Given the description of an element on the screen output the (x, y) to click on. 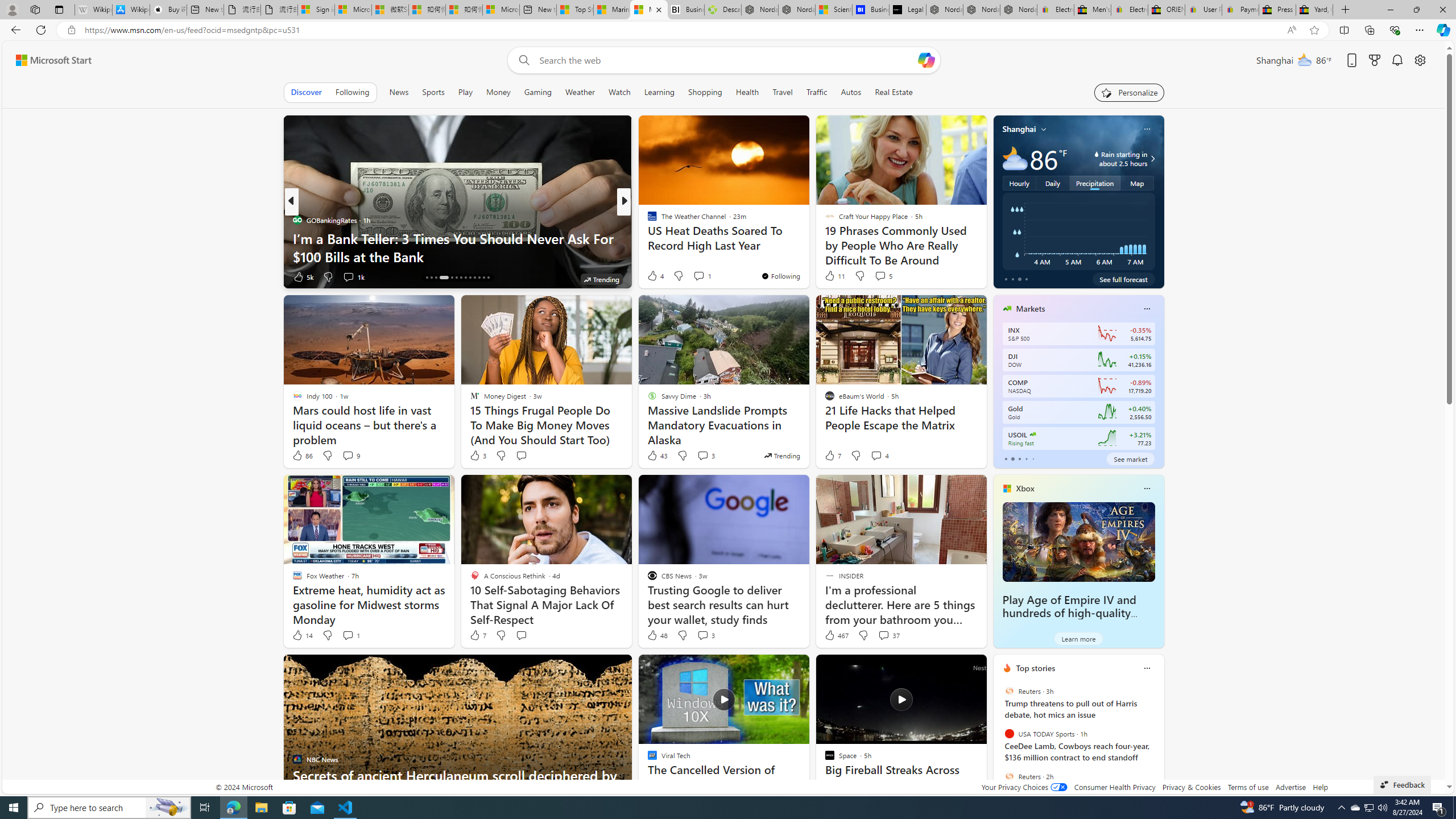
Money (498, 92)
AutomationID: tab-25 (483, 277)
spot on news (647, 238)
PC World (647, 219)
View comments 35 Comment (707, 276)
Microsoft rewards (1374, 60)
Watch (619, 92)
ChaChingQueen (647, 219)
Web search (520, 60)
Xbox (1025, 488)
Advertise (1290, 786)
'Pretty spectacular' discovery in George Washington's cellar (807, 247)
Learn more (1078, 638)
